Given the description of an element on the screen output the (x, y) to click on. 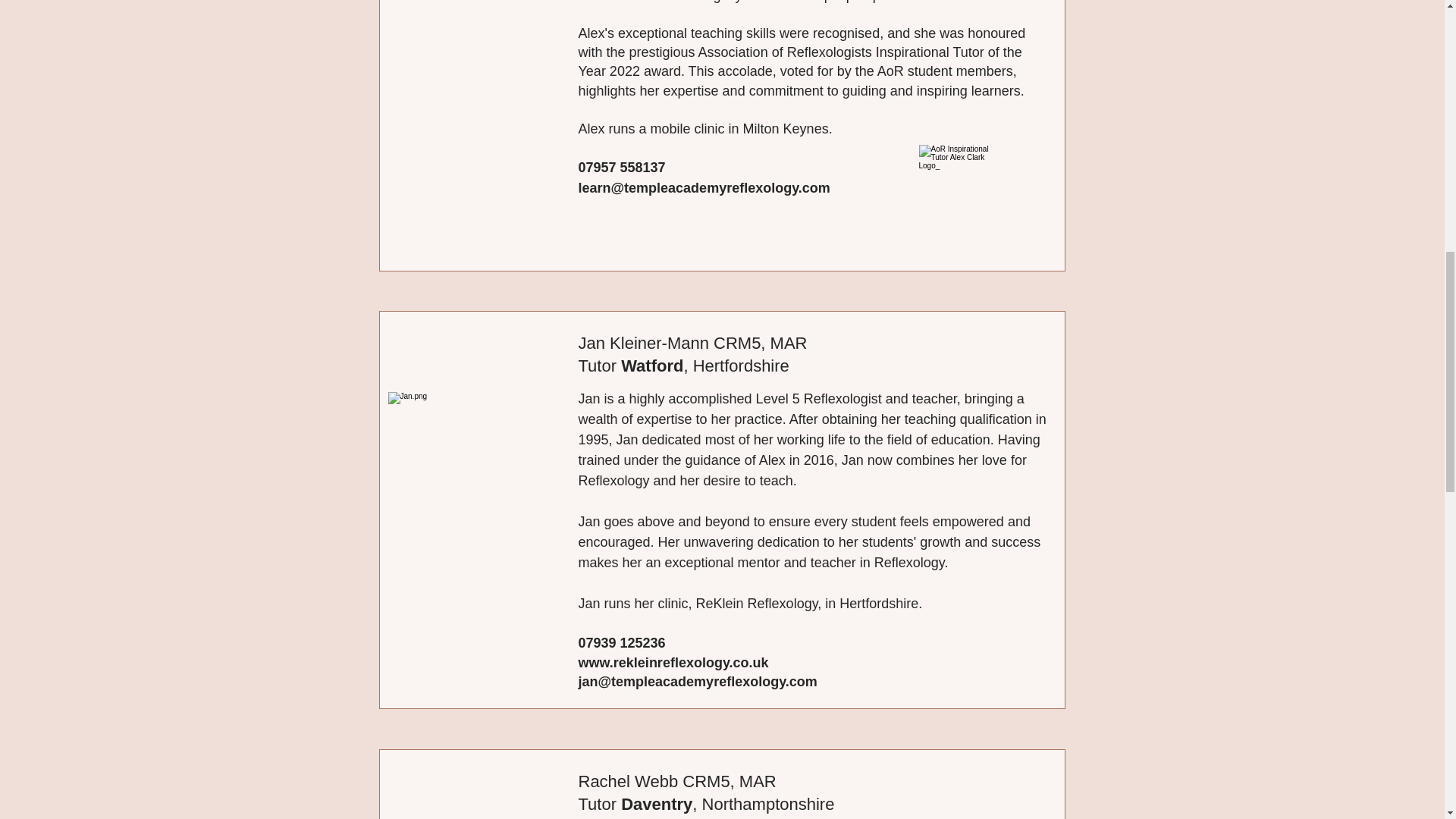
Watford (651, 365)
Daventry (657, 804)
gy.co.uk     (749, 662)
07957 558137 (621, 167)
AoR Inspirational Tutor Alex Clark Logo.png (961, 187)
0793 (593, 642)
Jan Kleiner-Mann (480, 475)
flexology.com (784, 187)
9 125236 (636, 642)
www.rekleinreflexolo (645, 662)
